Given the description of an element on the screen output the (x, y) to click on. 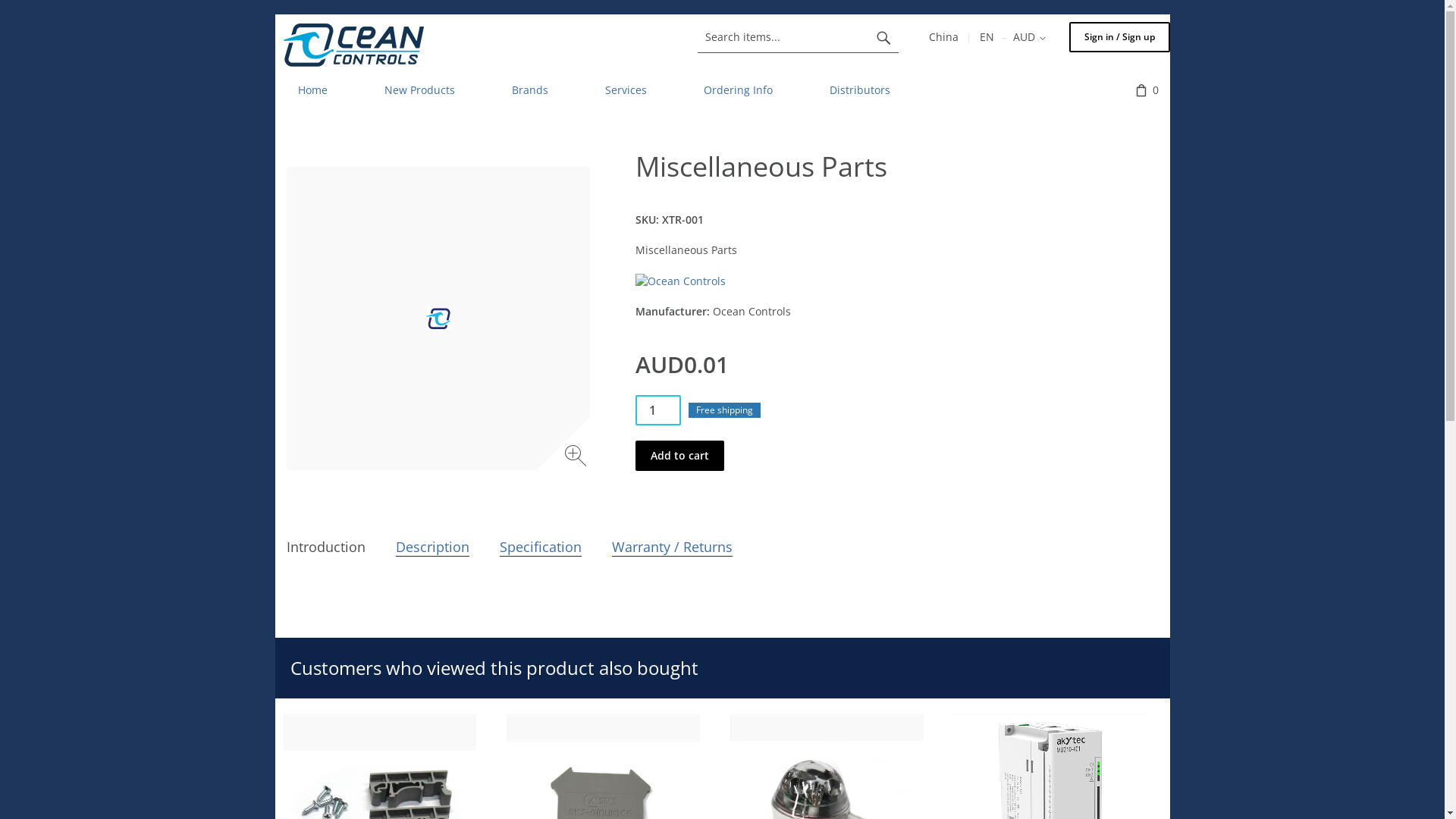
Sign in / Sign up Element type: text (1119, 36)
Home Element type: text (311, 89)
Home Element type: hover (352, 44)
Warranty / Returns Element type: text (671, 546)
Search Element type: hover (882, 36)
Brands Element type: text (529, 89)
Distributors Element type: text (859, 89)
China
EN
AUD Element type: text (986, 36)
Quantity Element type: hover (657, 410)
Description Element type: text (432, 546)
Services Element type: text (625, 89)
Specification Element type: text (539, 546)
1 Element type: text (657, 410)
New Products Element type: text (418, 89)
Introduction Element type: text (325, 546)
Add to cart Element type: text (679, 455)
Ordering Info Element type: text (737, 89)
